Given the description of an element on the screen output the (x, y) to click on. 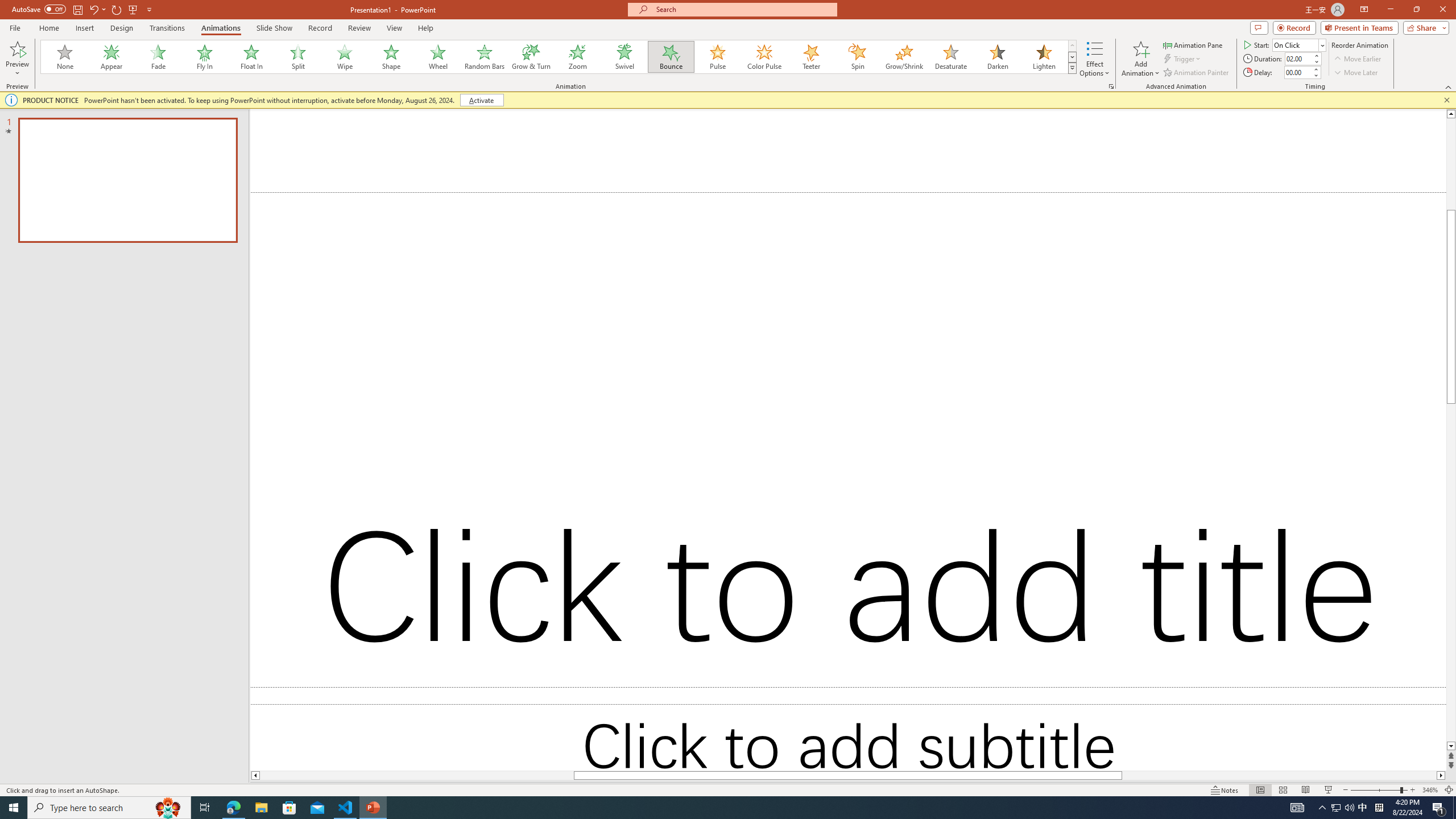
AutomationID: AnimationGallery (558, 56)
Zoom (1379, 790)
Close (1442, 9)
Slide Sorter (1282, 790)
Undo (96, 9)
Normal (1260, 790)
Darken (997, 56)
Desaturate (950, 56)
Wheel (437, 56)
Customize Quick Access Toolbar (149, 9)
Effect Options (1094, 58)
System (6, 6)
Animation Pane (1193, 44)
Redo (117, 9)
